Given the description of an element on the screen output the (x, y) to click on. 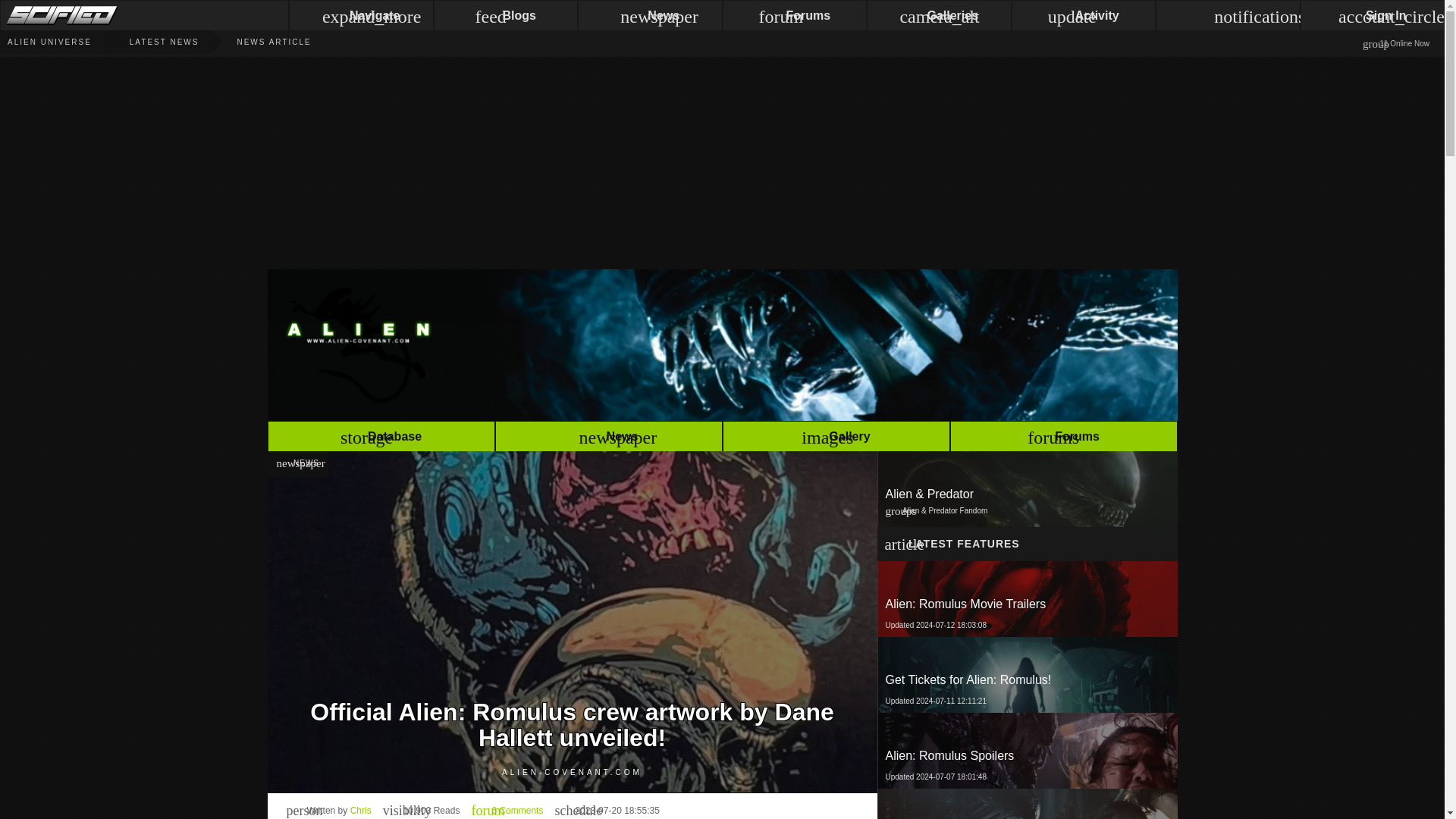
ALIEN UNIVERSE (45, 42)
Alien Movie Universe Image Galleries (835, 438)
Open the Alien Movie Universe Forums (1062, 438)
Gallery (835, 438)
6 Comments (1026, 750)
LATEST NEWS (506, 810)
News (1026, 599)
Alien Movie and TV Series News (1026, 599)
Alien Movies News (145, 42)
